Given the description of an element on the screen output the (x, y) to click on. 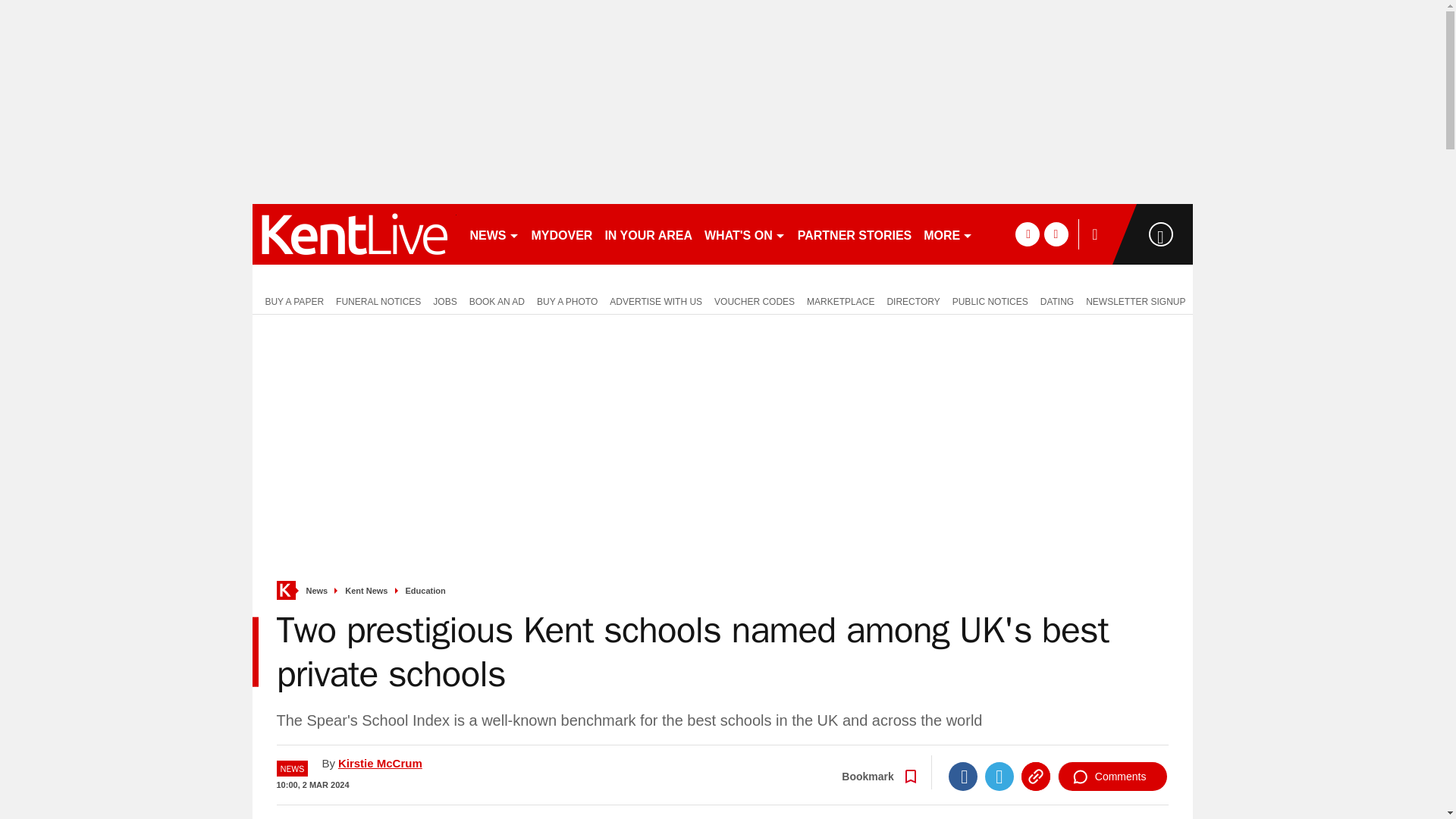
MORE (947, 233)
Facebook (962, 776)
kentlive (353, 233)
MYDOVER (561, 233)
Twitter (999, 776)
WHAT'S ON (745, 233)
Comments (1112, 776)
NEWS (494, 233)
facebook (1026, 233)
PARTNER STORIES (855, 233)
